Given the description of an element on the screen output the (x, y) to click on. 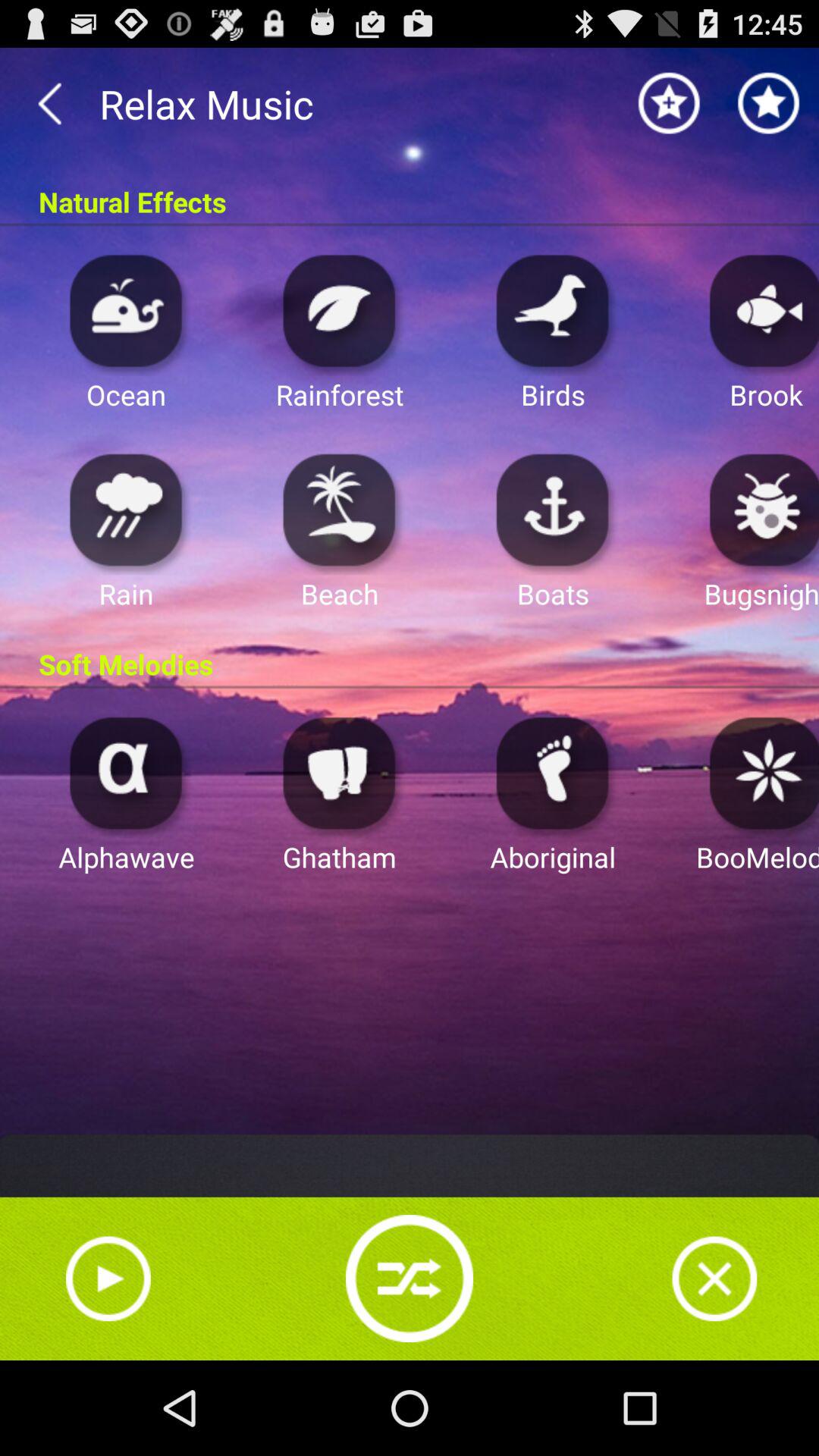
cancel button (714, 1278)
